Given the description of an element on the screen output the (x, y) to click on. 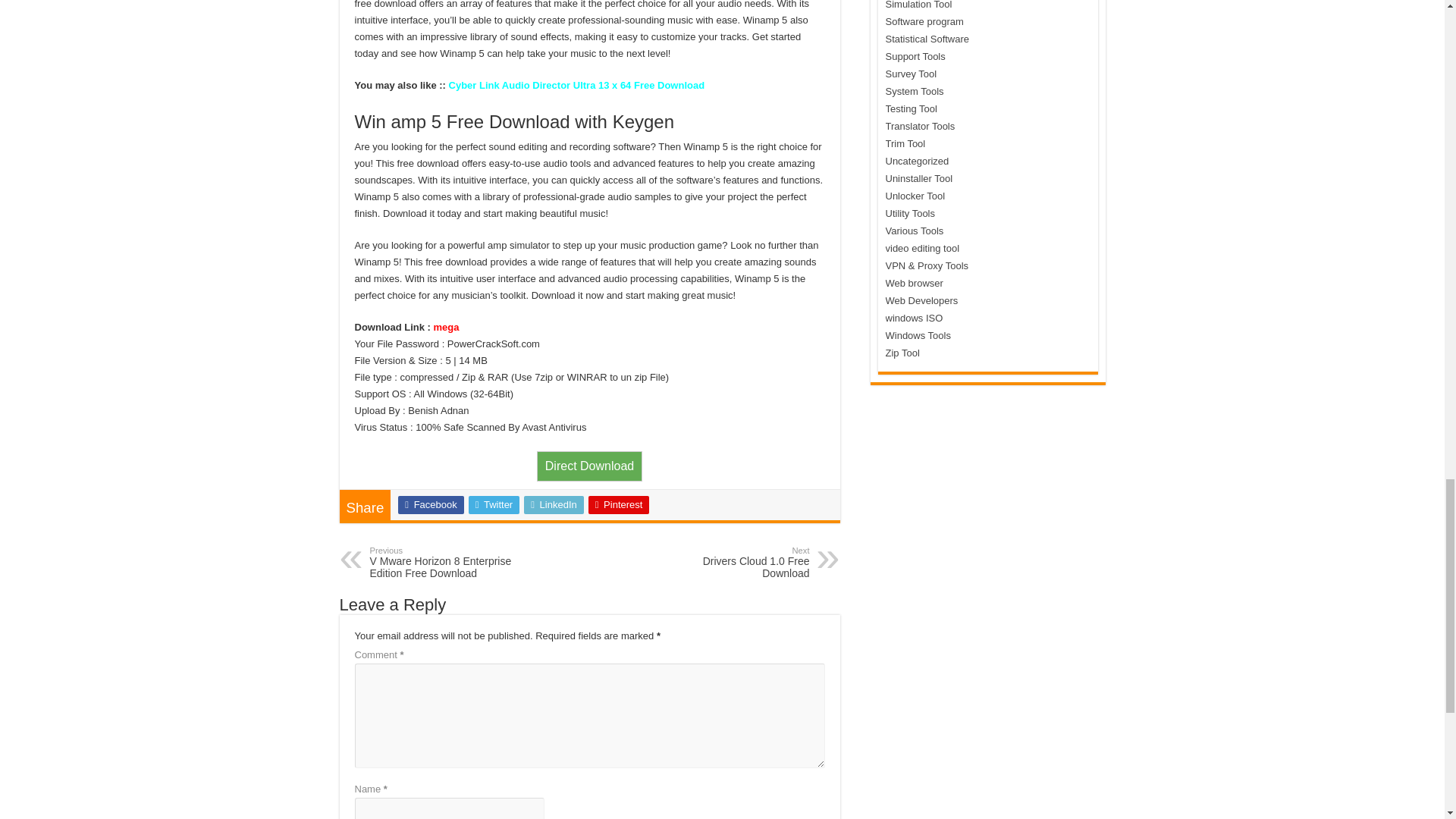
LinkedIn (553, 505)
mega (446, 326)
Direct Download (589, 464)
Twitter (493, 505)
Cyber Link Audio Director Ultra 13 x 64 Free Download (576, 84)
Direct Download (447, 562)
Pinterest (589, 465)
Facebook (618, 505)
